Given the description of an element on the screen output the (x, y) to click on. 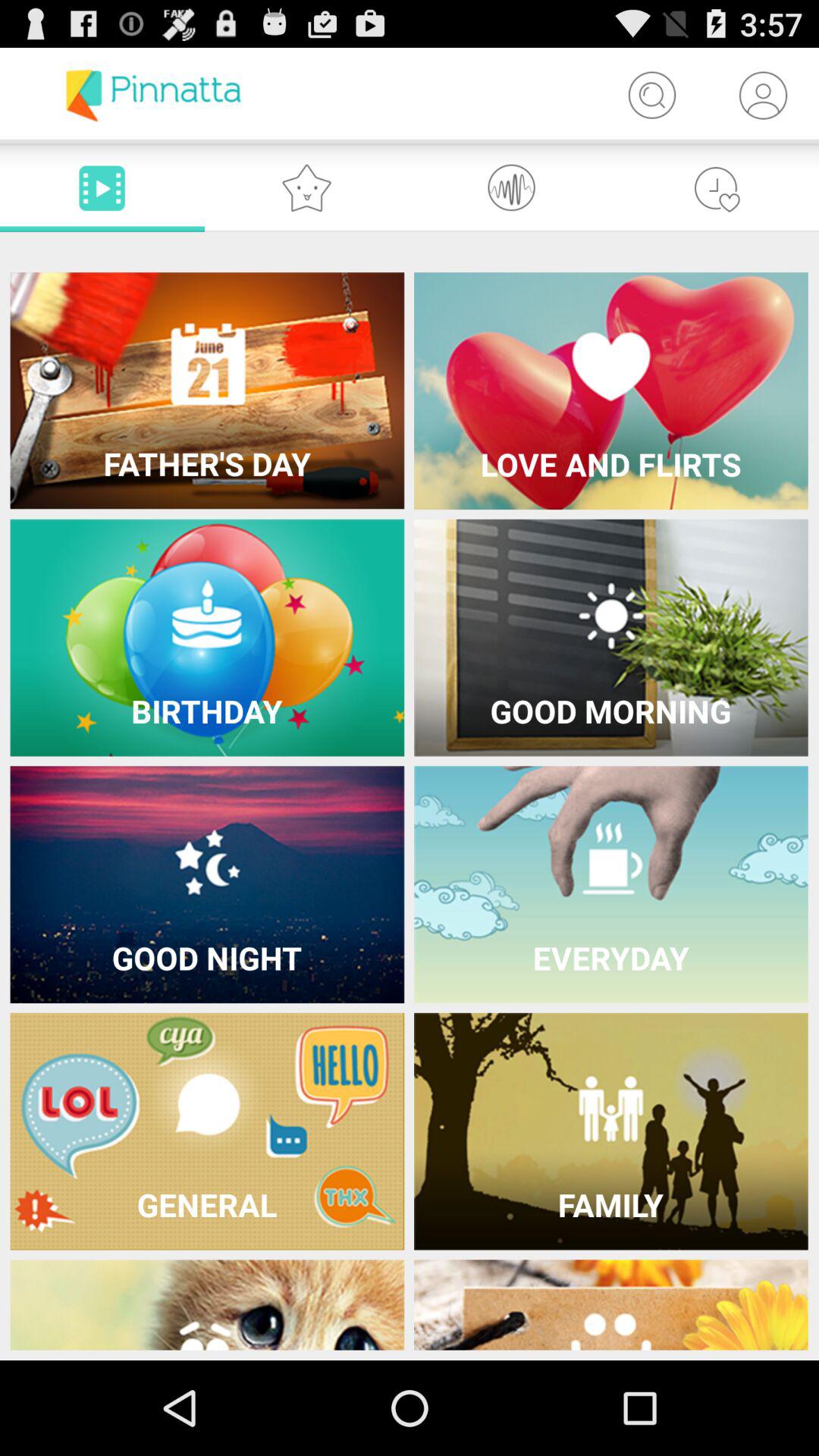
select the 2nd image of the 3rd row of the page (611, 884)
select the image which is placed at fourth row first column (207, 1131)
select fourth image from top (611, 638)
click on search icon (651, 95)
click on the fifth image (207, 884)
